Given the description of an element on the screen output the (x, y) to click on. 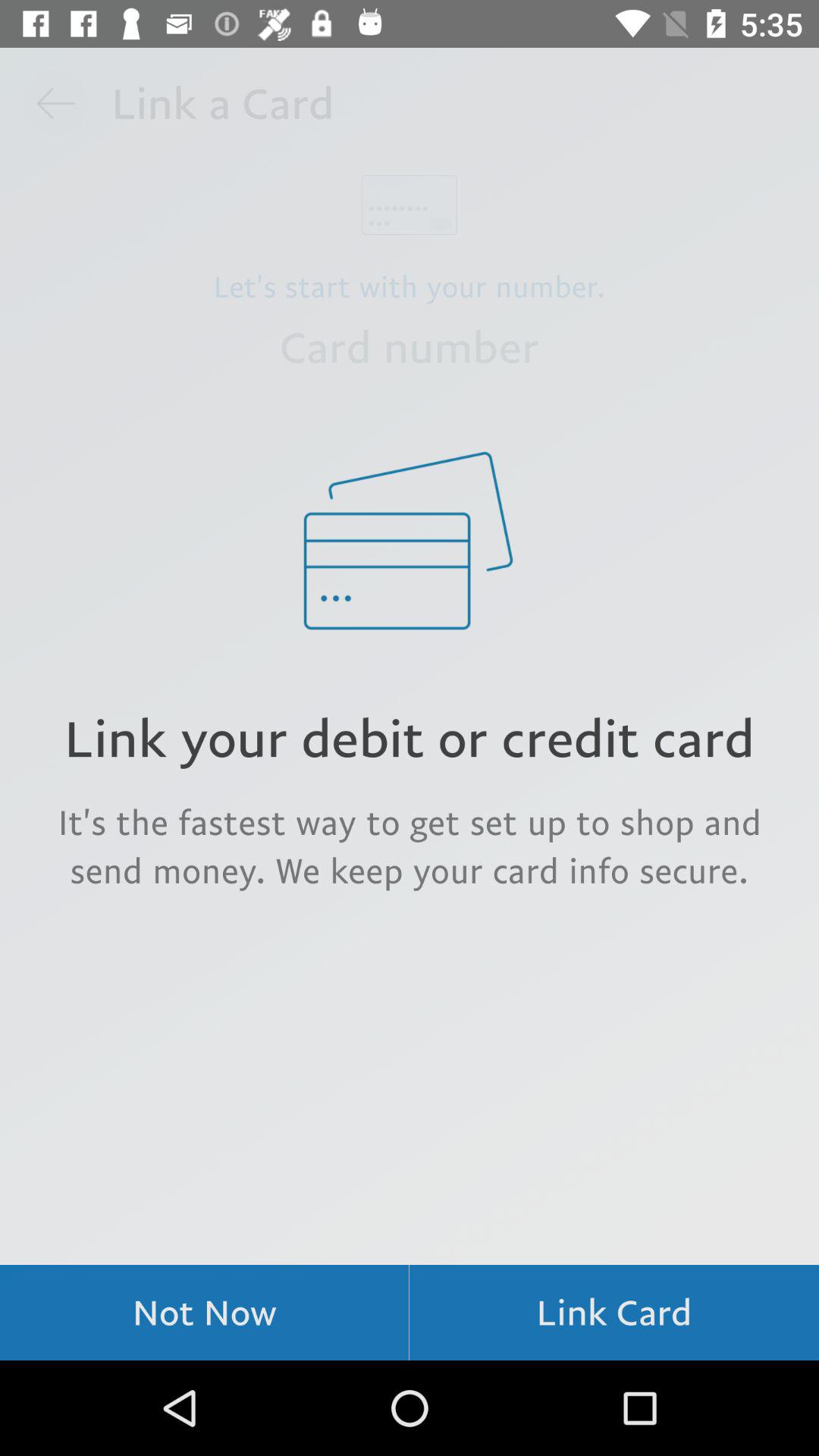
flip until the not now (204, 1312)
